Given the description of an element on the screen output the (x, y) to click on. 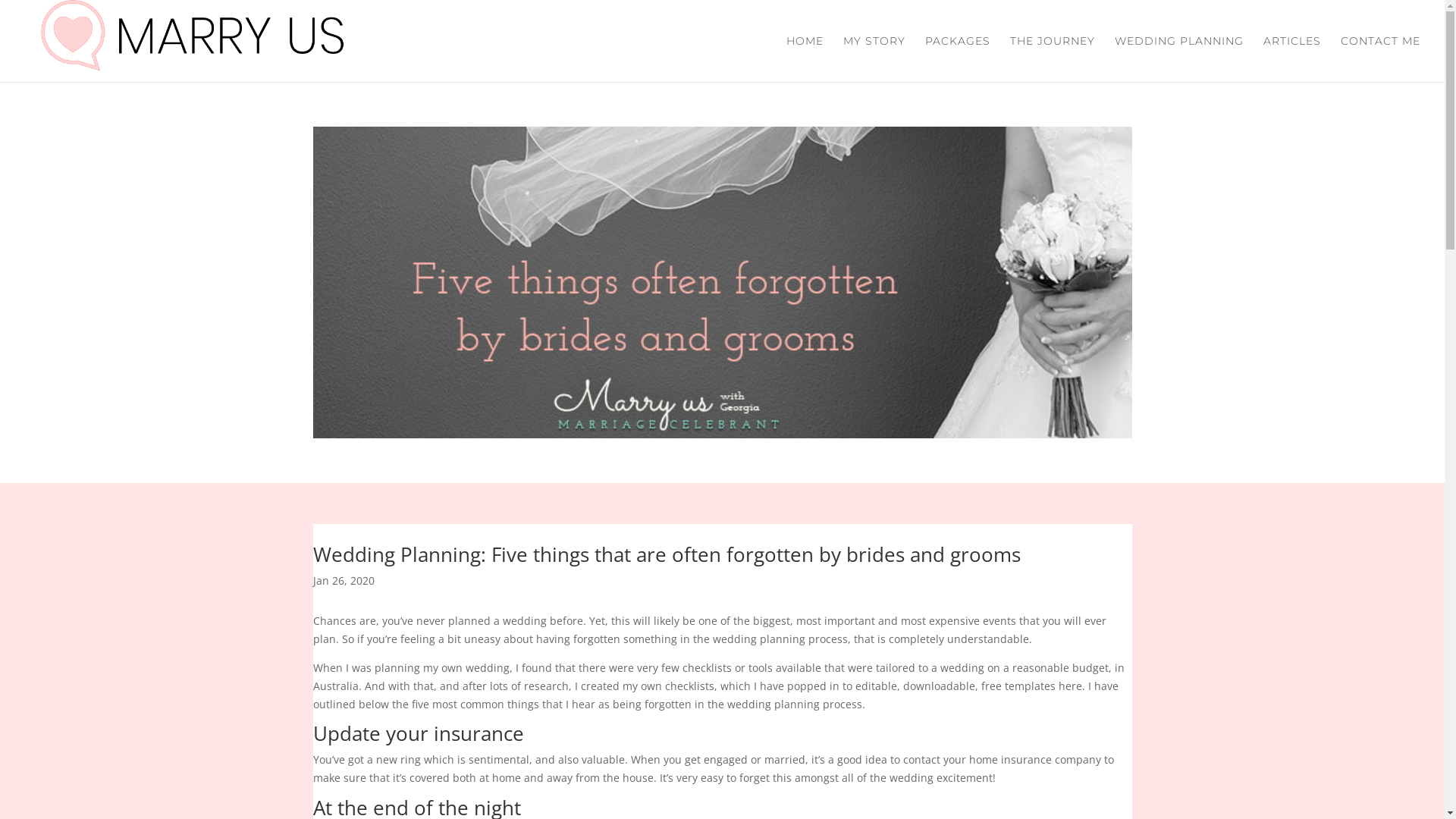
WEDDING PLANNING Element type: text (1178, 58)
HOME Element type: text (804, 58)
five-things-often-forgotten-by-brides-and-grooms Element type: hover (721, 282)
THE JOURNEY Element type: text (1052, 58)
ARTICLES Element type: text (1292, 58)
PACKAGES Element type: text (957, 58)
MY STORY Element type: text (874, 58)
CONTACT ME Element type: text (1380, 58)
